Given the description of an element on the screen output the (x, y) to click on. 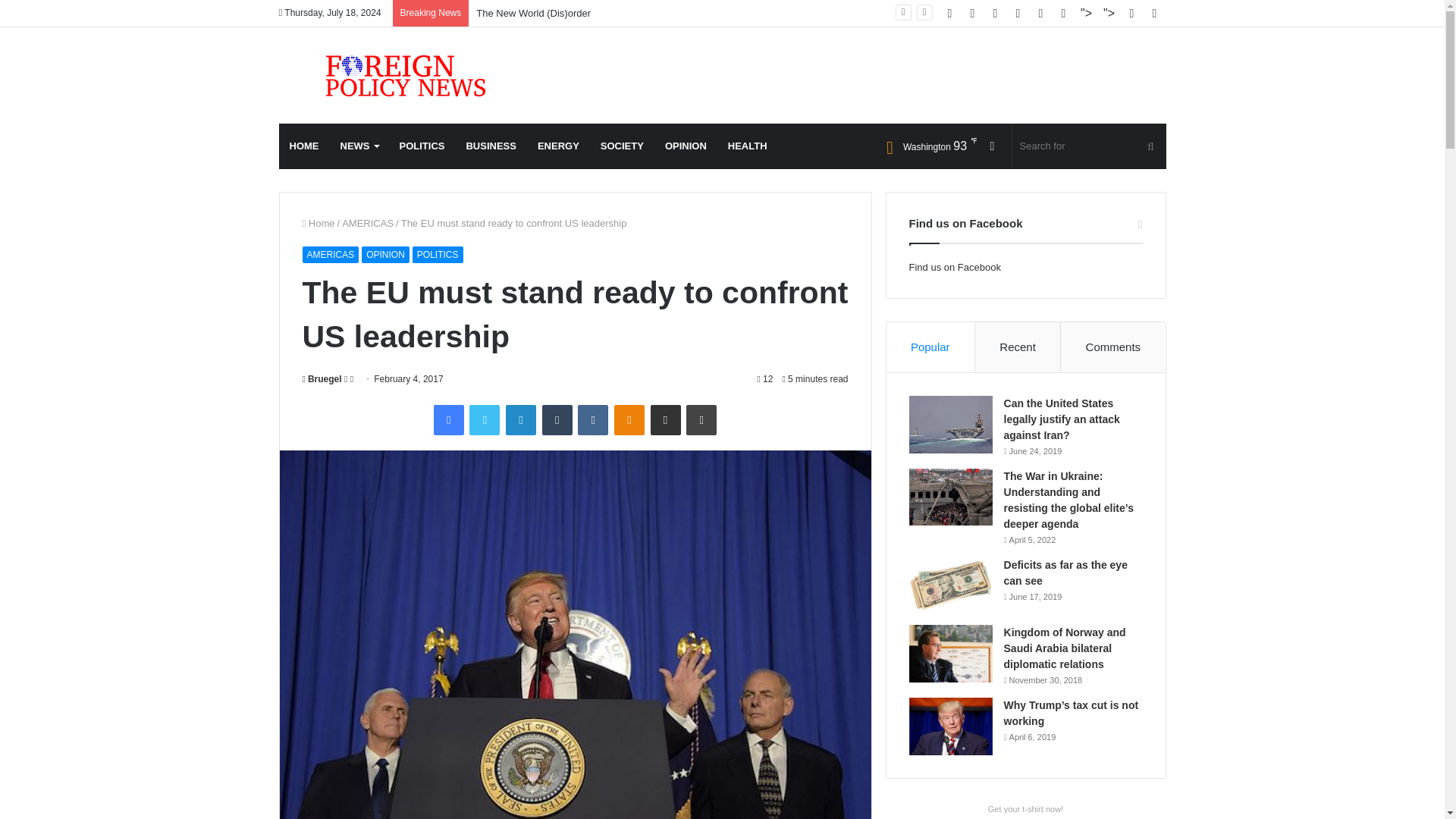
Bruegel (320, 378)
Random Article (992, 145)
Search for (1088, 145)
YouTube (1040, 13)
Odnoklassniki (629, 419)
ENERGY (558, 145)
Random Article (1131, 13)
Random Article (992, 145)
NEWS (358, 145)
Bruegel (320, 378)
POLITICS (437, 254)
BUSINESS (489, 145)
Follow on Twitter (346, 378)
POLITICS (421, 145)
